Given the description of an element on the screen output the (x, y) to click on. 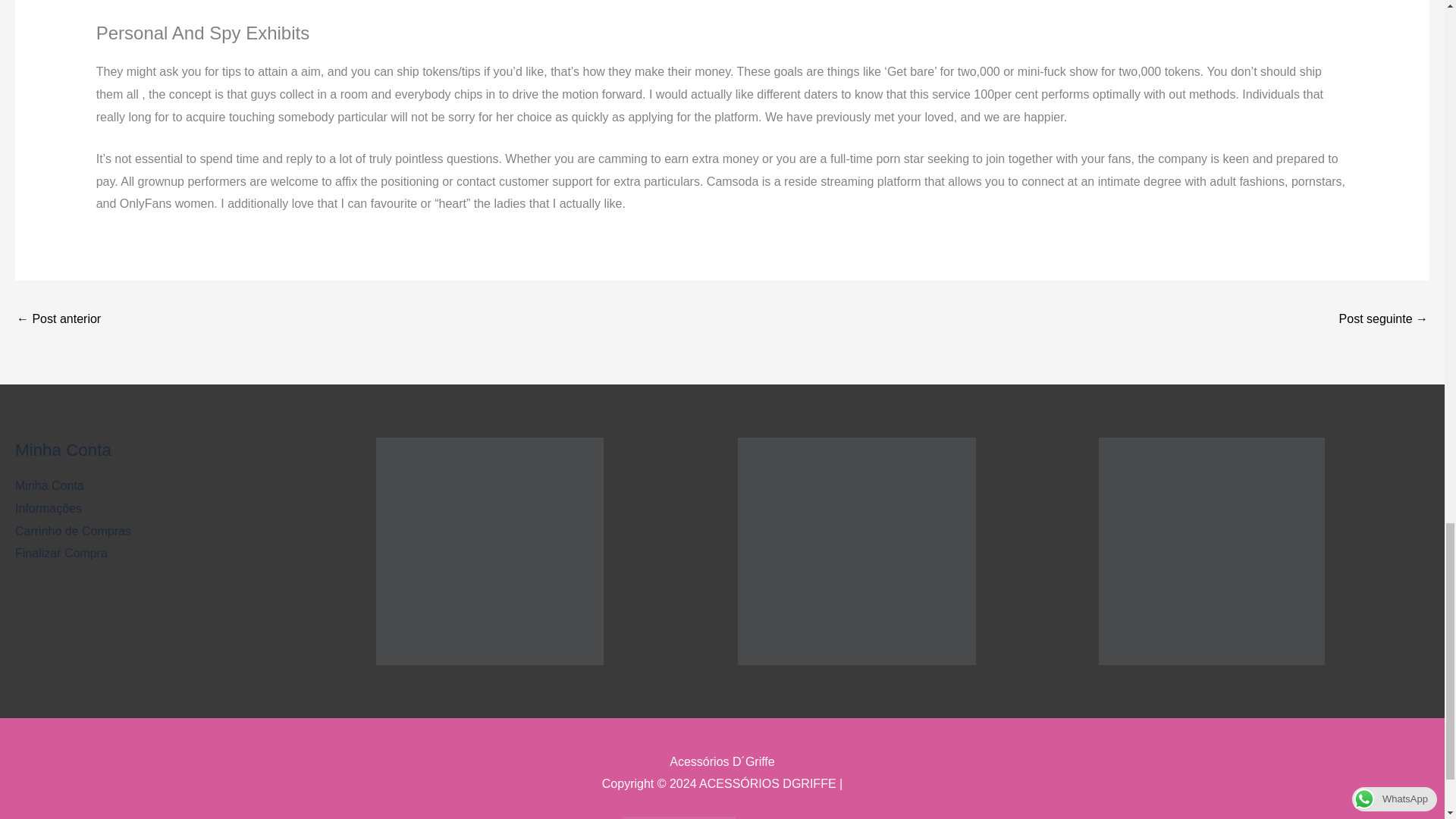
My Social Safety (58, 320)
